Given the description of an element on the screen output the (x, y) to click on. 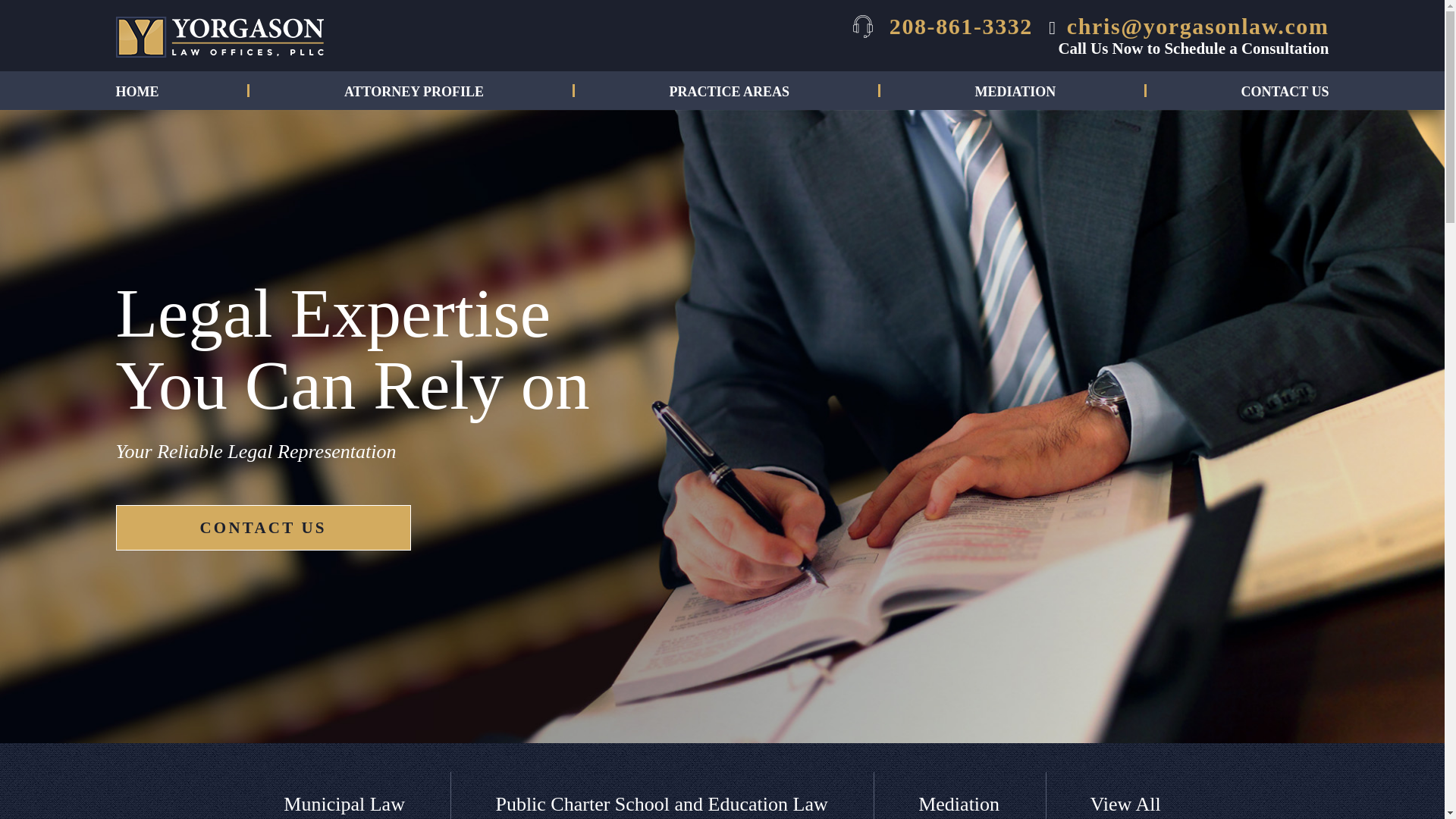
MEDIATION (1016, 93)
Yorgason Law Offices, PLLC (219, 36)
Public Charter School and Education Law (661, 803)
ATTORNEY PROFILE (413, 93)
HOME (136, 93)
CONTACT US (1285, 93)
Mediation (958, 803)
PRACTICE AREAS (729, 93)
CONTACT US (262, 527)
208-861-3332 (942, 26)
Municipal Law (343, 803)
View All (1125, 803)
